Given the description of an element on the screen output the (x, y) to click on. 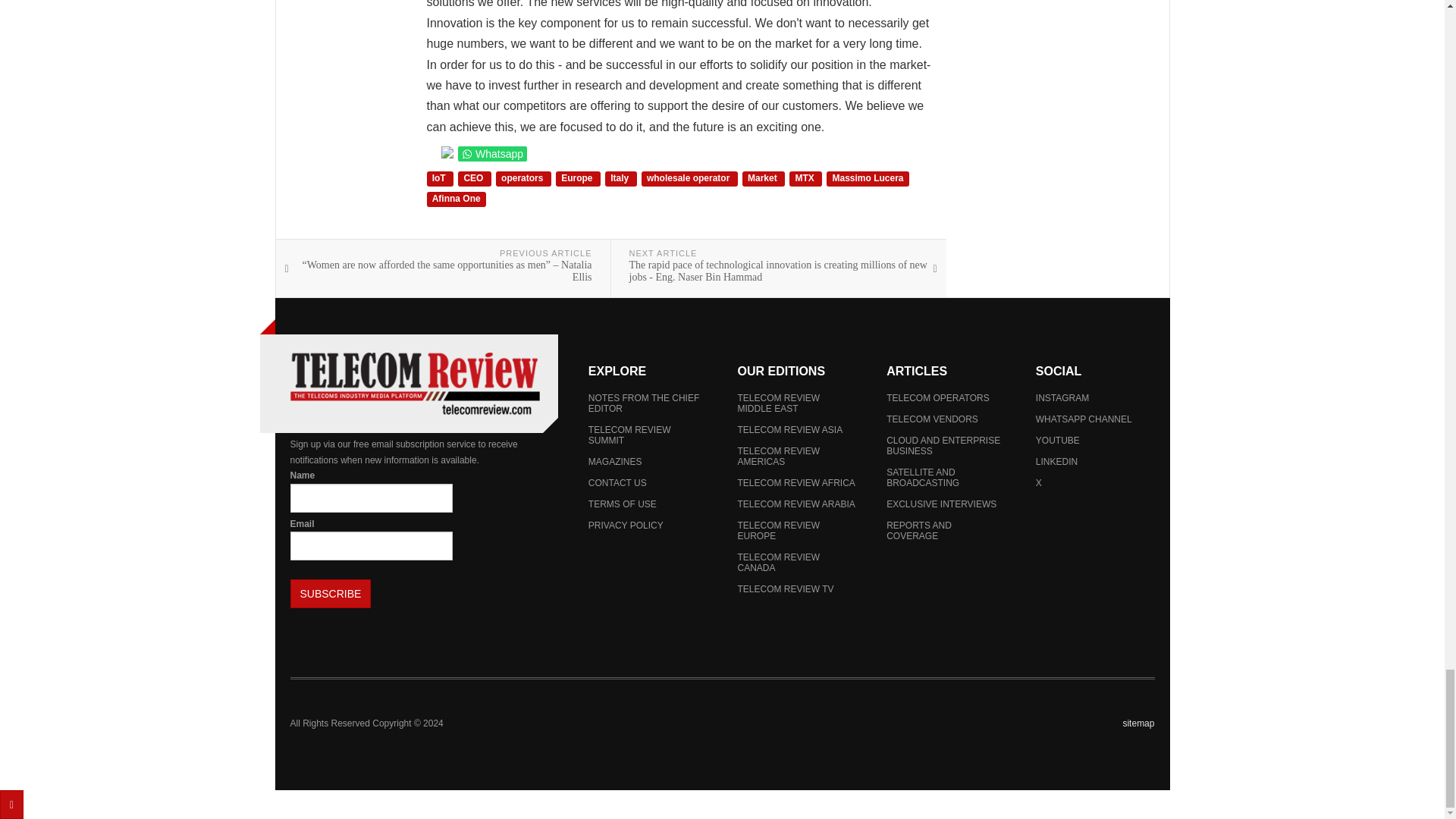
Subscribe (330, 593)
Telecom Review (413, 383)
